Given the description of an element on the screen output the (x, y) to click on. 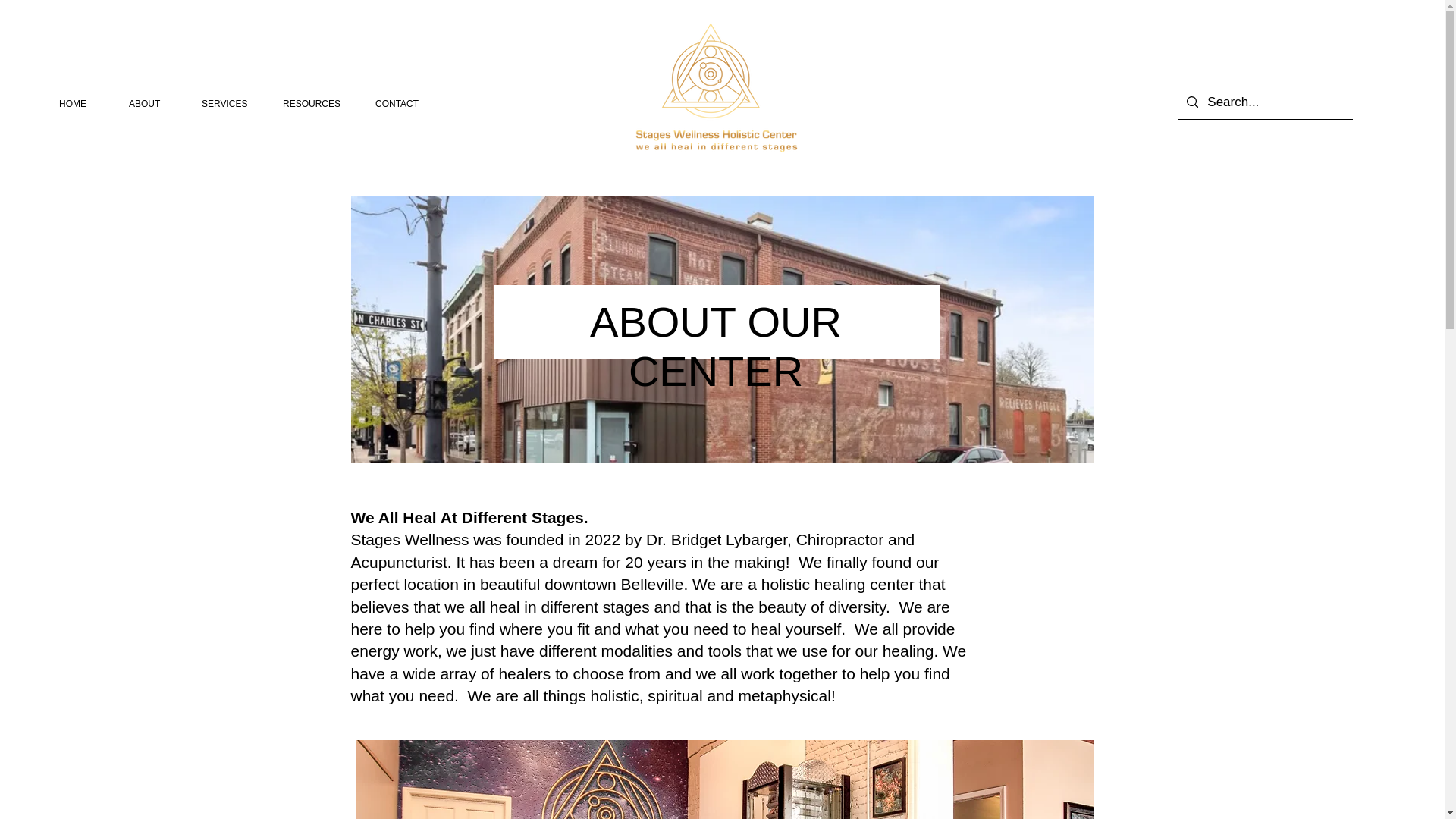
CONTACT (405, 103)
SERVICES (230, 103)
HOME (82, 103)
